Given the description of an element on the screen output the (x, y) to click on. 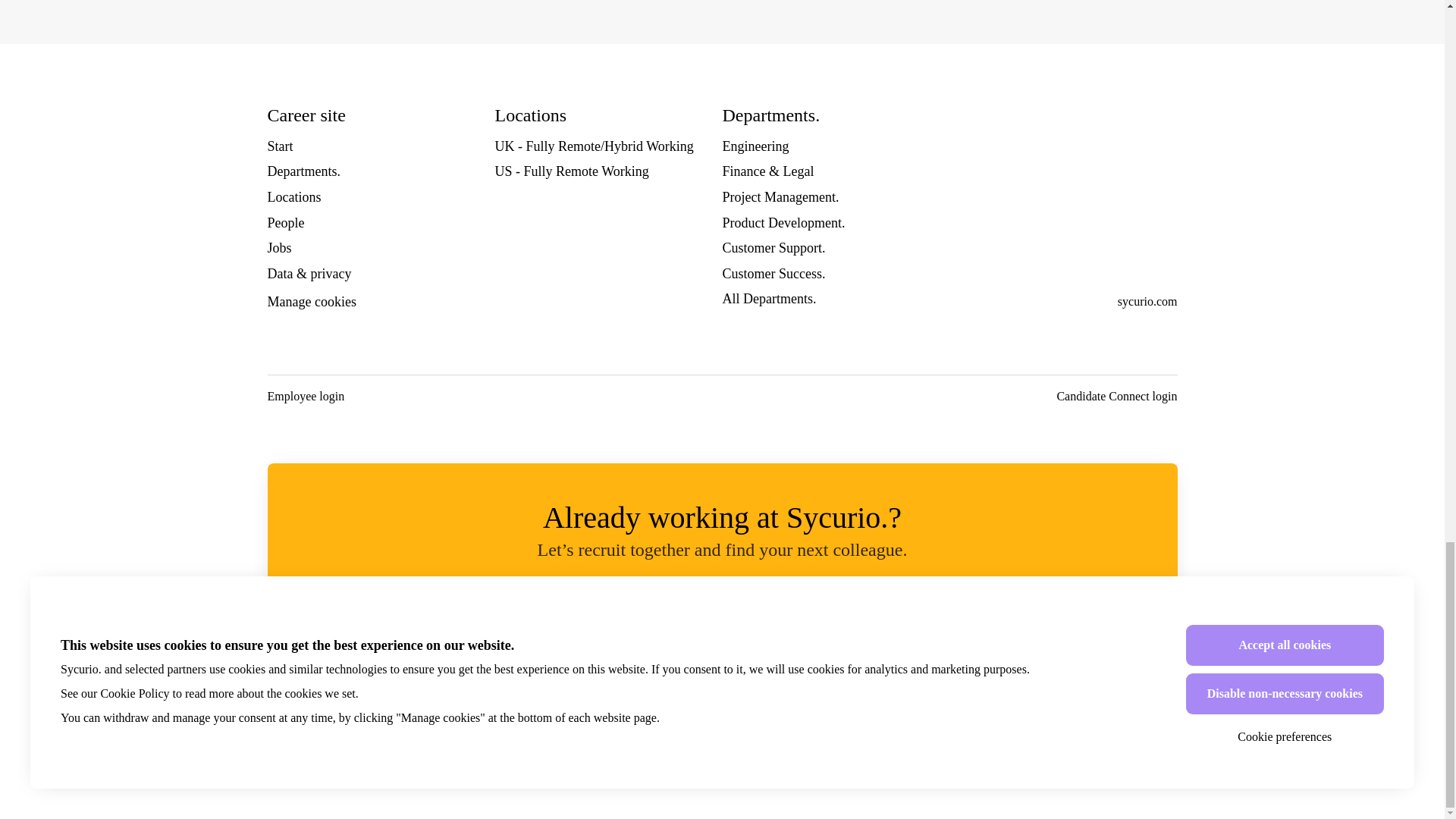
Matt Taylor (685, 676)
Mandy Pattenden (536, 676)
Seetaramaiah Thopuri (610, 676)
Locations (293, 197)
Project Management. (780, 197)
All Departments. (768, 298)
Departments. (302, 170)
Jordan Spite (982, 676)
Prakash Thapa (908, 676)
Product Development. (783, 222)
